Given the description of an element on the screen output the (x, y) to click on. 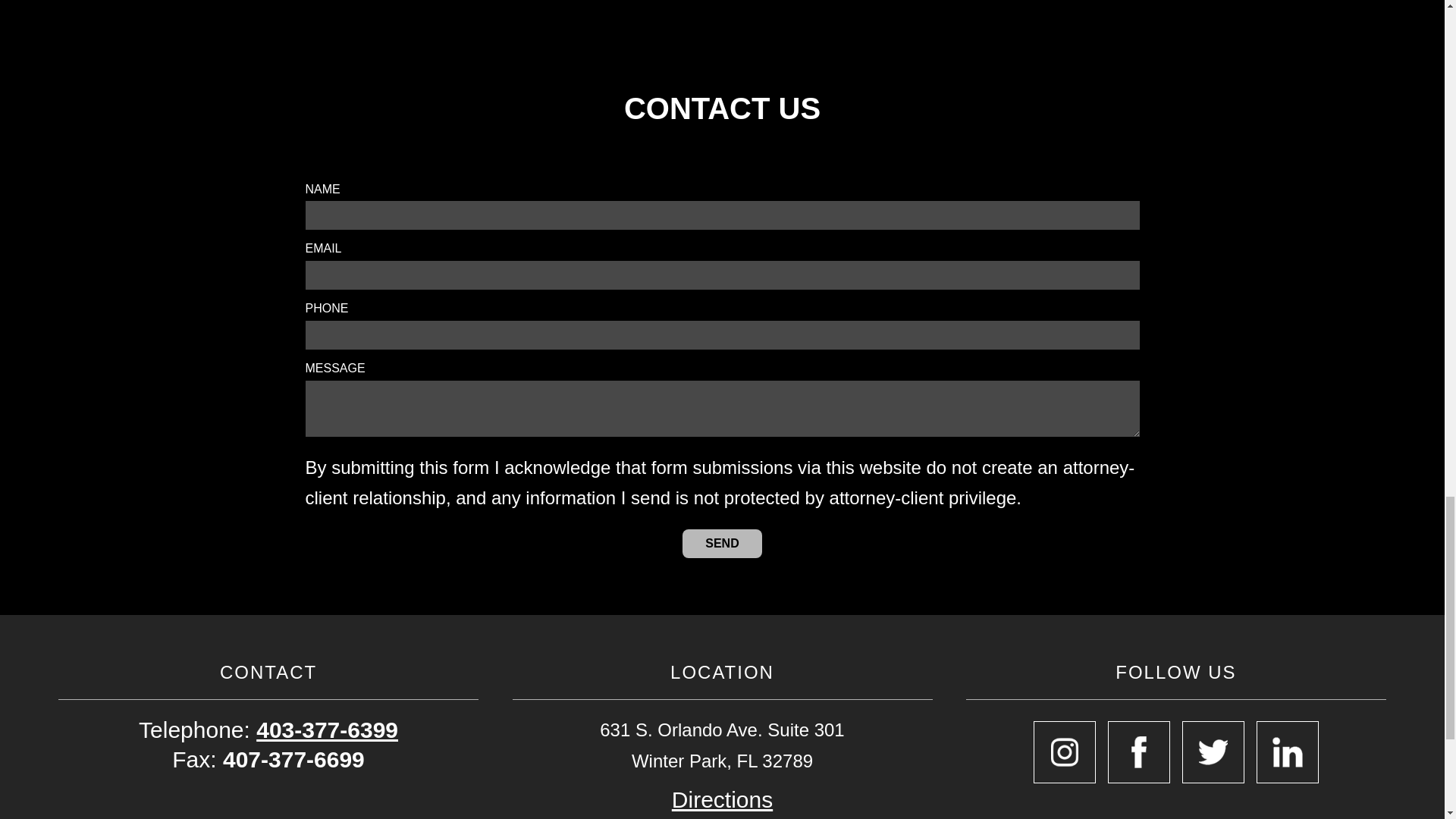
Open Google Map in a New Window (722, 799)
Open Facebook in a New Window (1139, 751)
Open Twitter in a New Window (1213, 751)
Open Linkedin in a New Window (1287, 751)
Open Instagram in a New Window (1064, 751)
Send (721, 543)
